Given the description of an element on the screen output the (x, y) to click on. 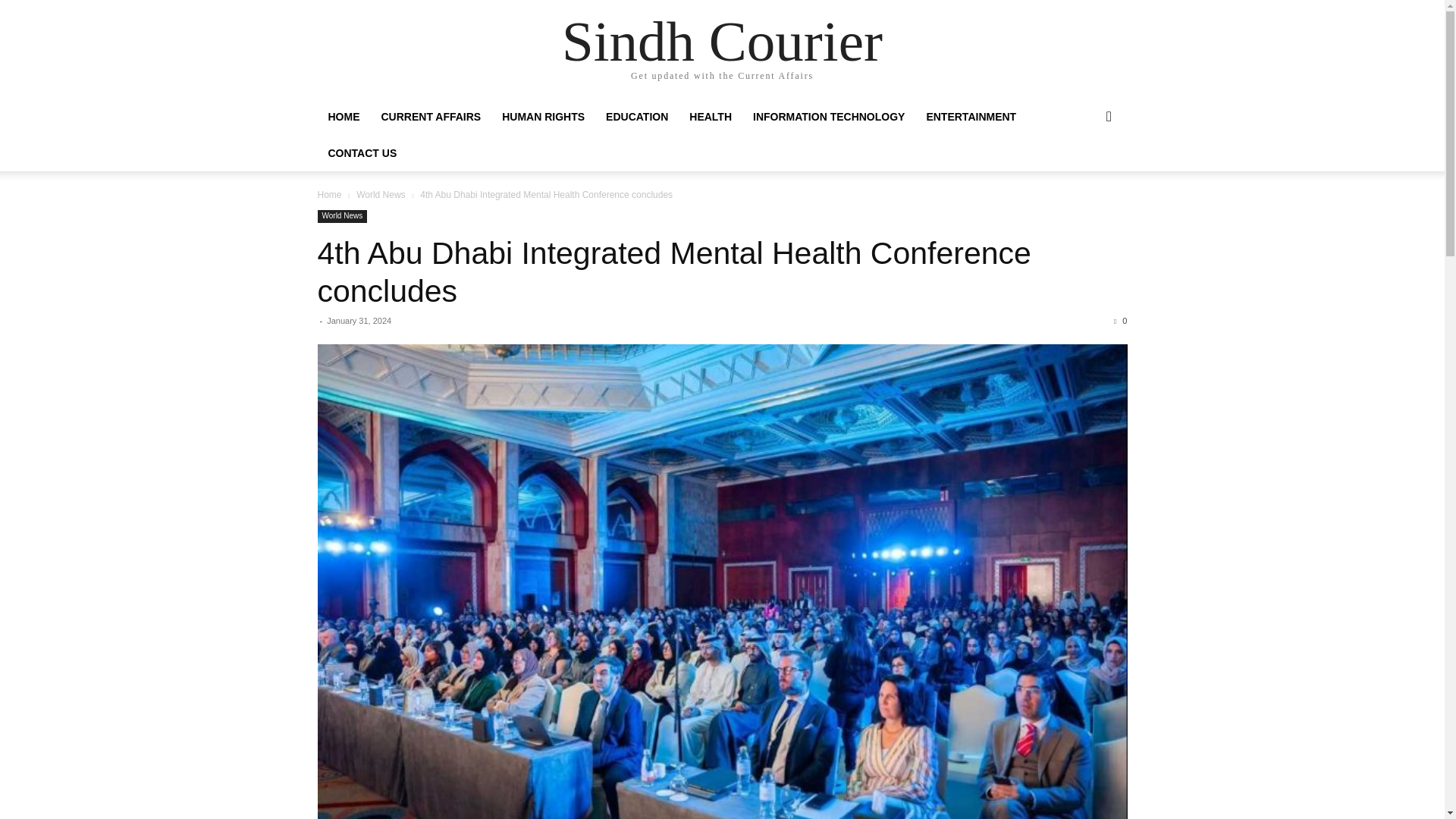
EDUCATION (636, 116)
ENTERTAINMENT (970, 116)
4th Abu Dhabi Integrated Mental Health Conference concludes (673, 271)
CONTACT US (362, 152)
4th Abu Dhabi Integrated Mental Health Conference concludes (673, 271)
Sindh Courier (722, 41)
Home (328, 194)
World News (341, 215)
INFORMATION TECHNOLOGY (828, 116)
HOME (343, 116)
